Given the description of an element on the screen output the (x, y) to click on. 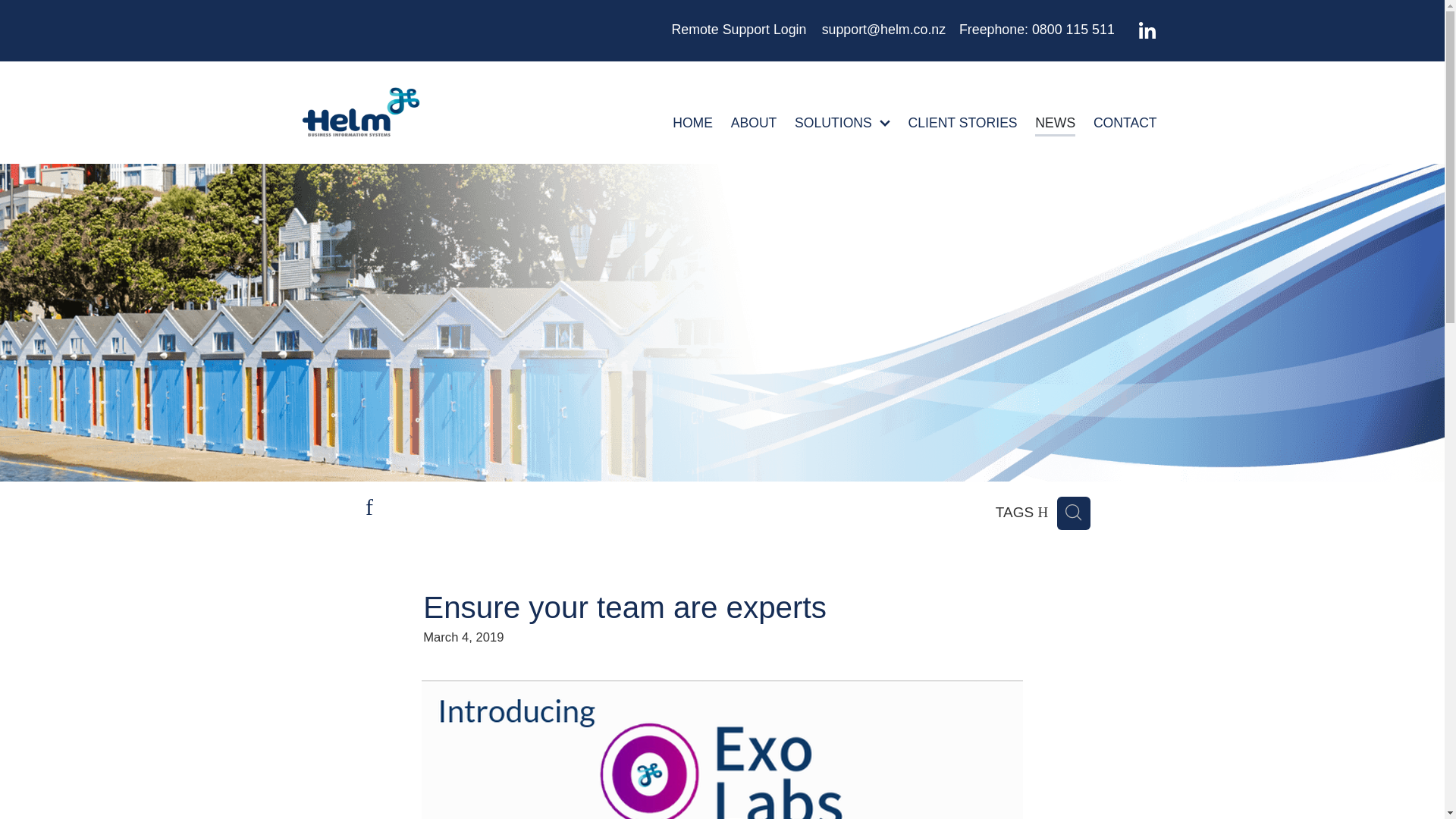
CONTACT (1125, 122)
HOME (692, 122)
CLIENT STORIES (962, 122)
SOLUTIONS (842, 122)
A link to this website's LinkedIn. (1147, 30)
Remote Support Login (738, 29)
ABOUT (754, 122)
View all posts (369, 509)
f (369, 509)
NEWS (1055, 122)
